Given the description of an element on the screen output the (x, y) to click on. 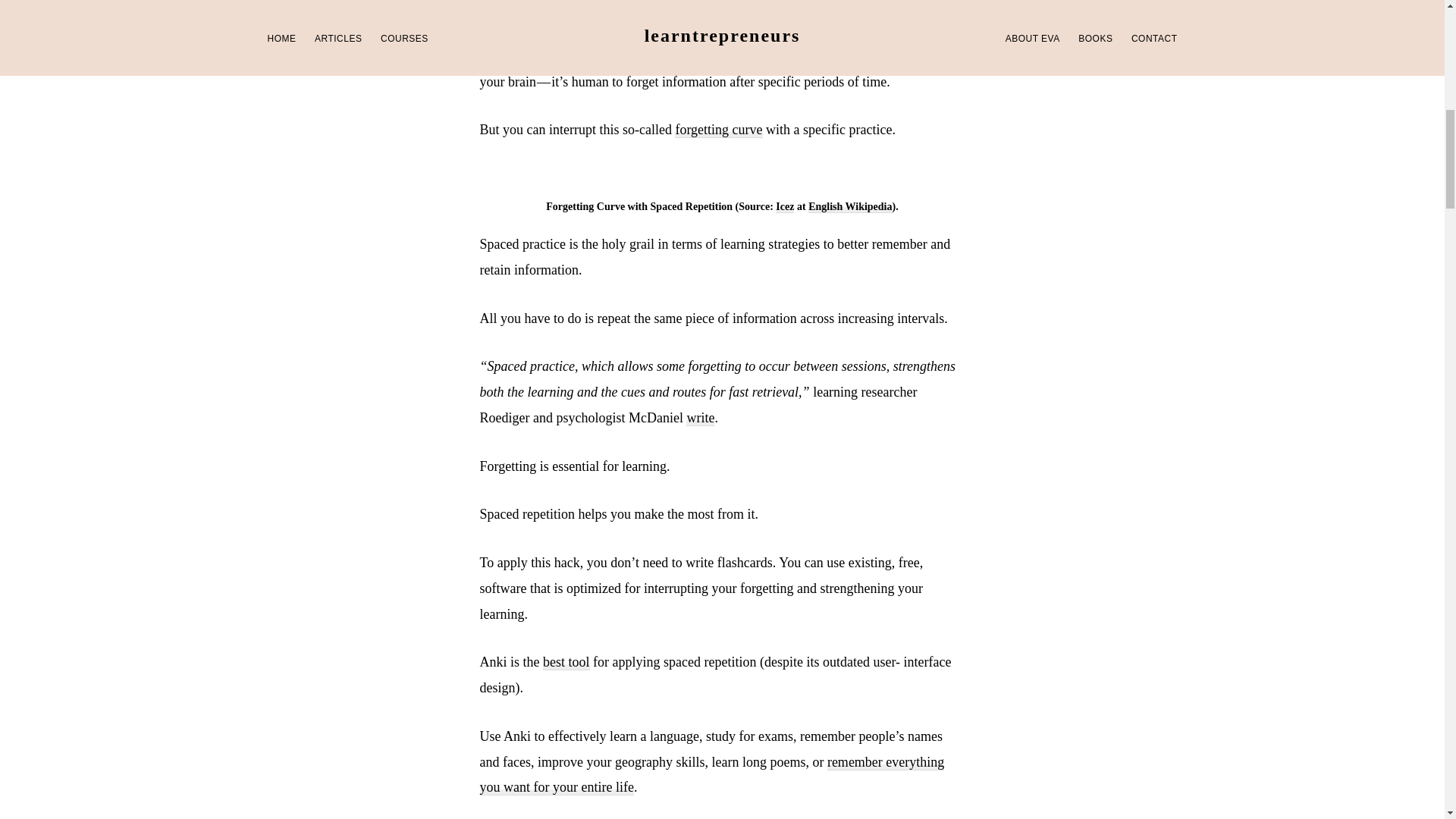
best tool (566, 662)
forgetting curve (718, 130)
remember everything you want for your entire life (711, 775)
Icez (784, 206)
write (699, 417)
English Wikipedia (849, 206)
